Given the description of an element on the screen output the (x, y) to click on. 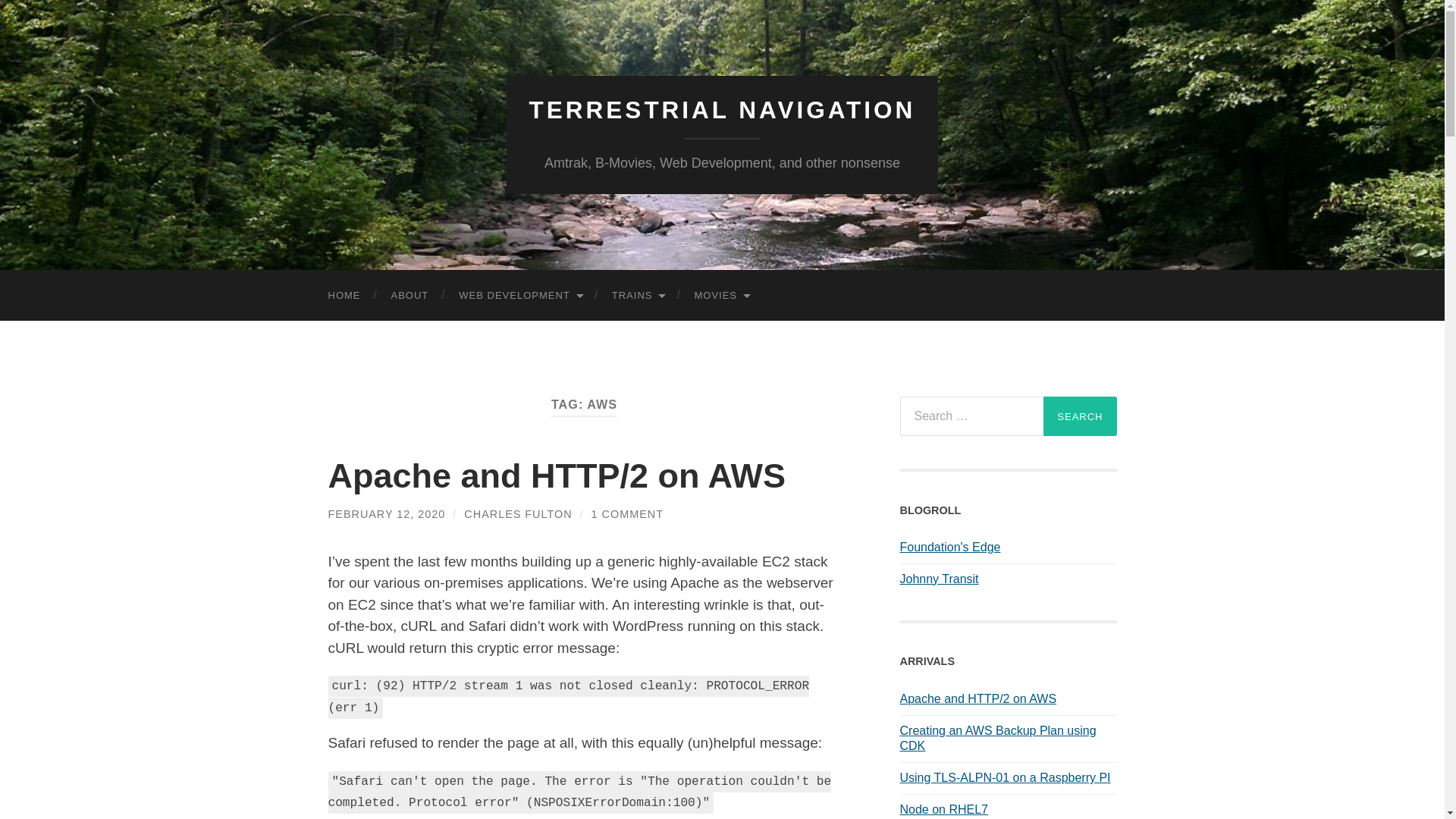
WEB DEVELOPMENT (519, 295)
Johnny Transit (938, 578)
Posts by Charles Fulton (518, 513)
TERRESTRIAL NAVIGATION (722, 109)
me (409, 295)
ABOUT (409, 295)
Search (1079, 415)
TRAINS (637, 295)
and how to find them (637, 295)
Search (1079, 415)
